Given the description of an element on the screen output the (x, y) to click on. 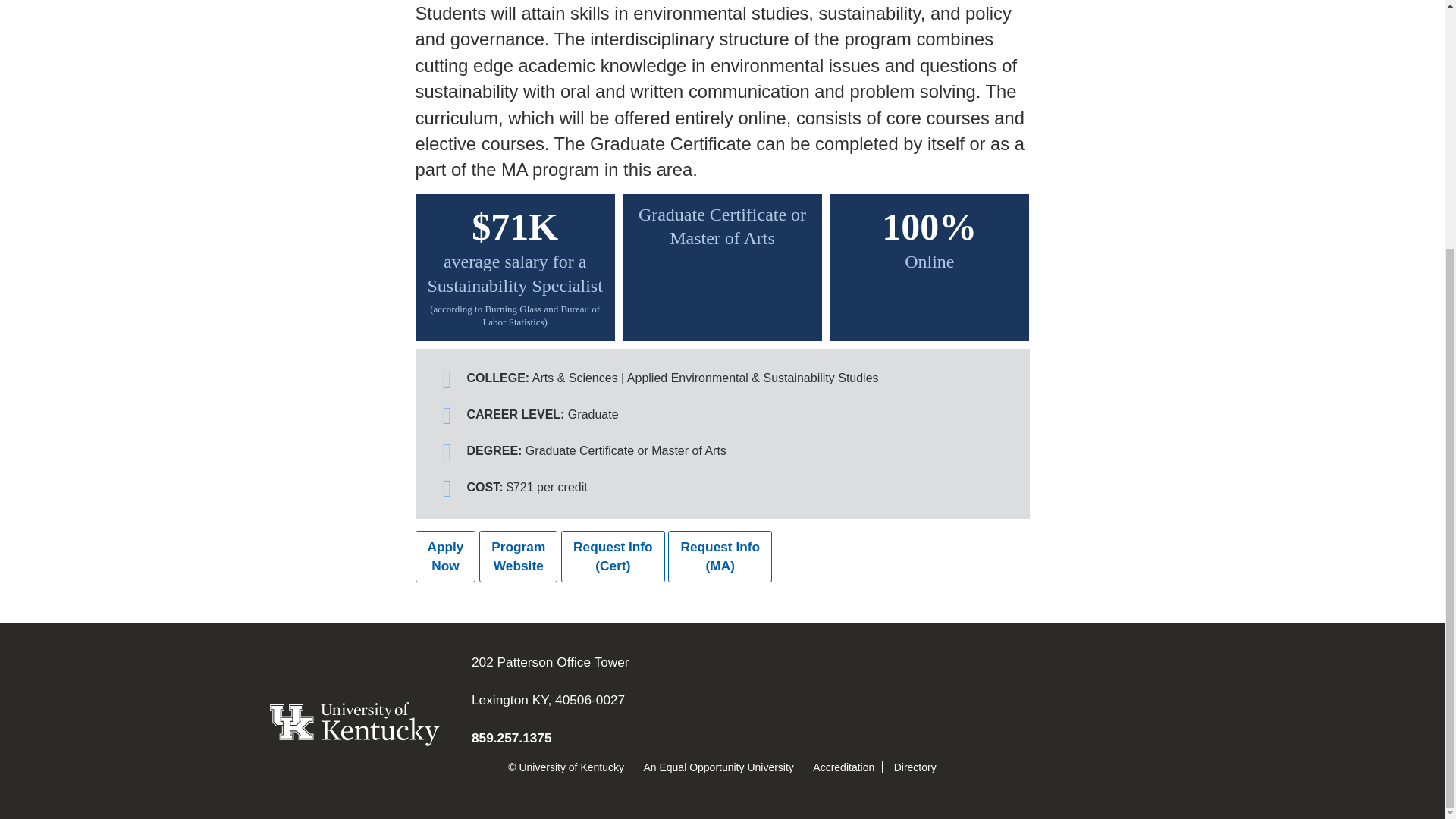
Directory (445, 556)
Accreditation (914, 767)
